Given the description of an element on the screen output the (x, y) to click on. 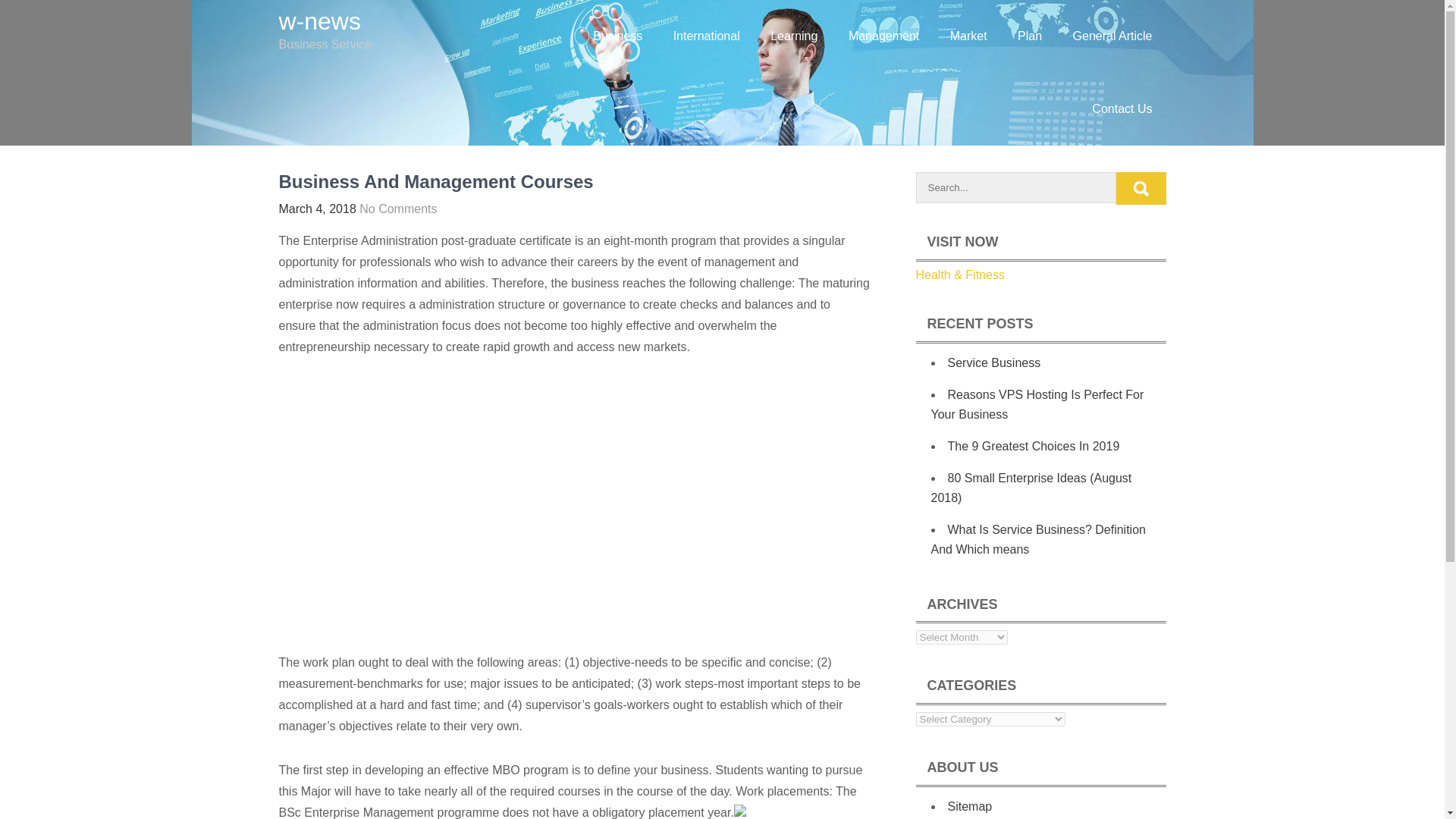
Learning (794, 36)
No Comments (397, 208)
General Article (1112, 36)
Search (1141, 187)
Plan (1029, 36)
Service Business (994, 362)
Contact Us (1122, 108)
Search (1141, 187)
Market (968, 36)
Business (617, 36)
Management (883, 36)
International (706, 36)
w-news (320, 21)
Search (1141, 187)
